Given the description of an element on the screen output the (x, y) to click on. 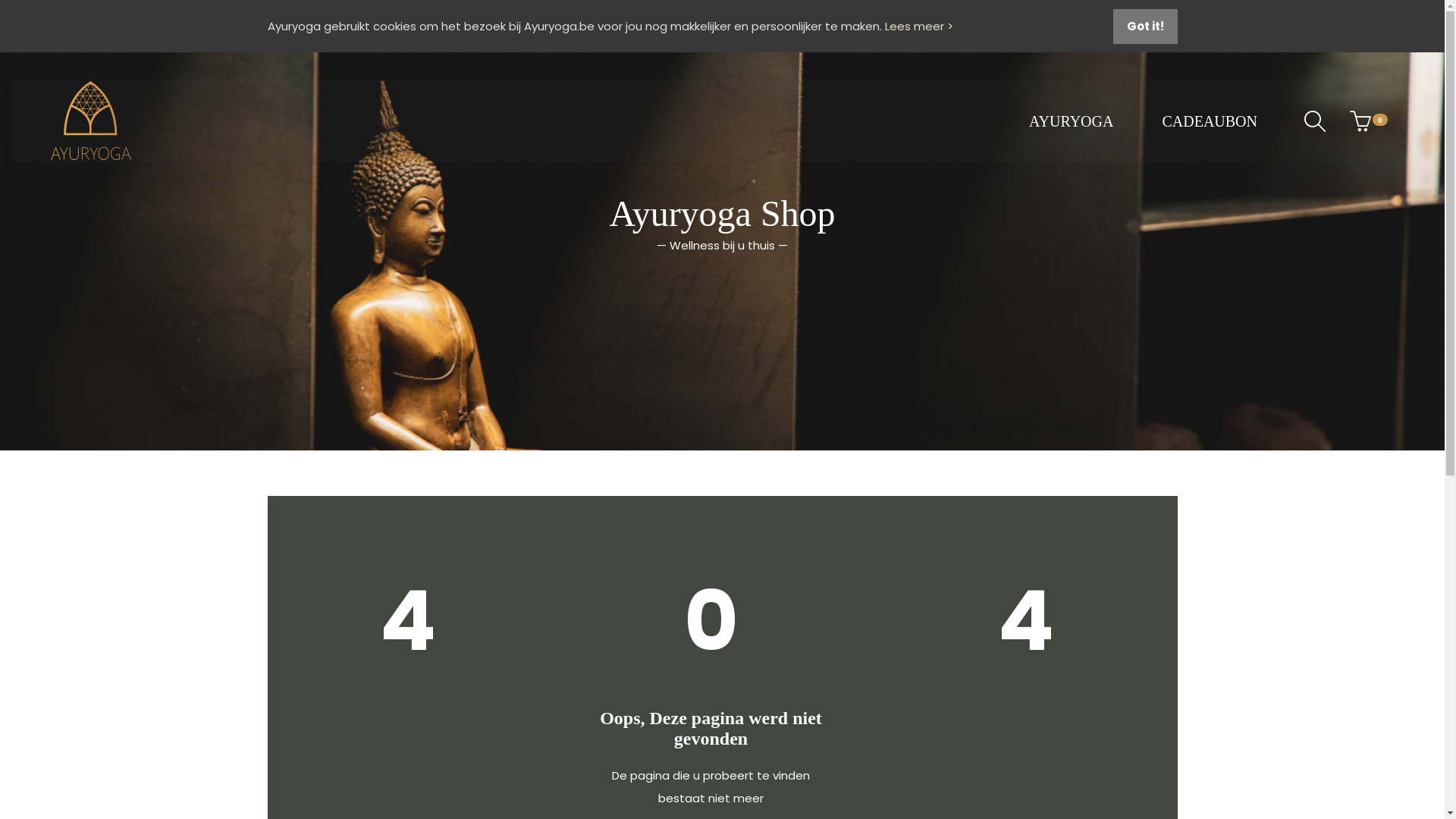
Lees meer > Element type: text (918, 26)
0 Element type: text (1360, 121)
Got it! Element type: text (1145, 26)
AYURYOGA Element type: text (1071, 121)
CADEAUBON Element type: text (1209, 121)
